Given the description of an element on the screen output the (x, y) to click on. 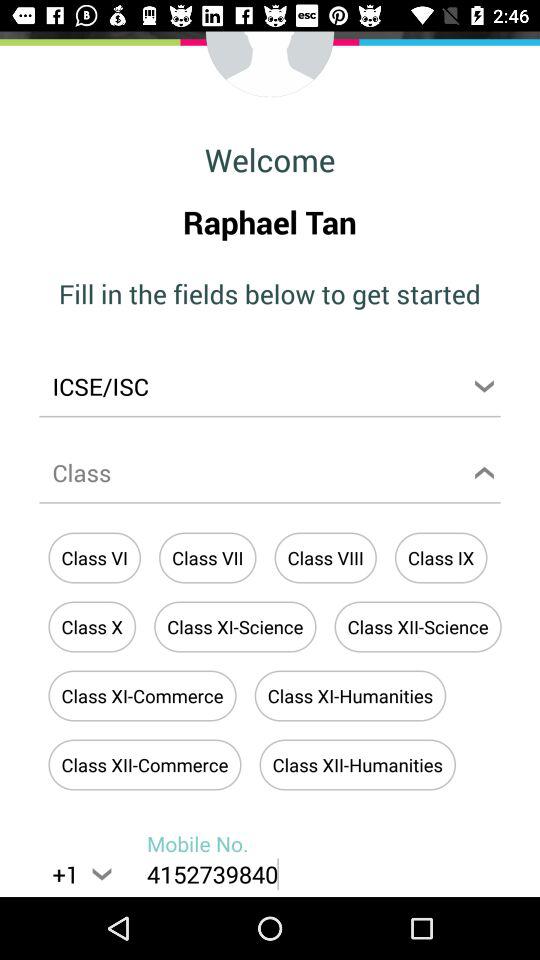
select class (269, 475)
